Given the description of an element on the screen output the (x, y) to click on. 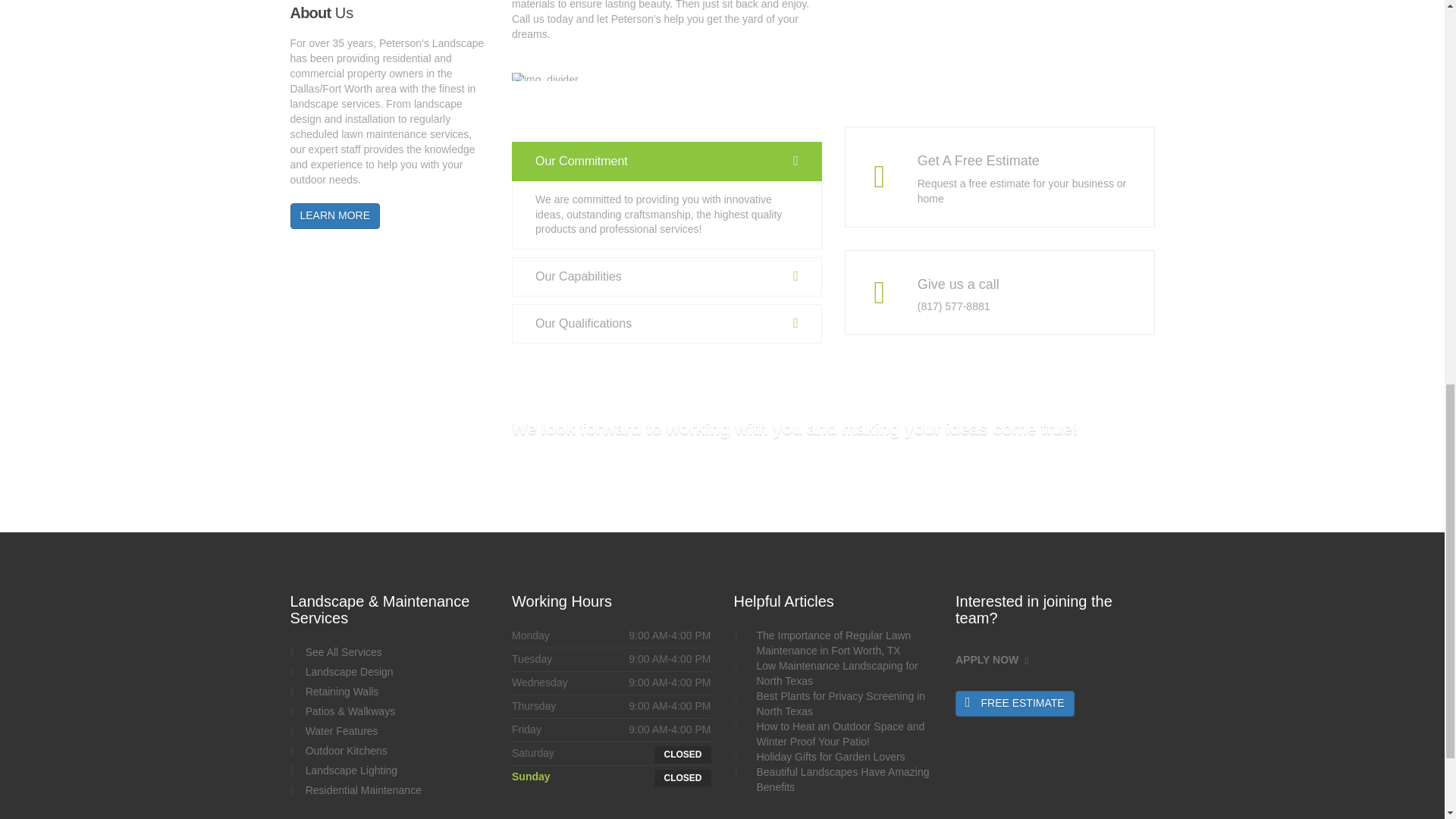
SEE ALL SERVICES (992, 500)
Our Qualifications (667, 323)
Our Capabilities (667, 276)
Our Commitment (667, 160)
GET IN TOUCH (1106, 500)
